Given the description of an element on the screen output the (x, y) to click on. 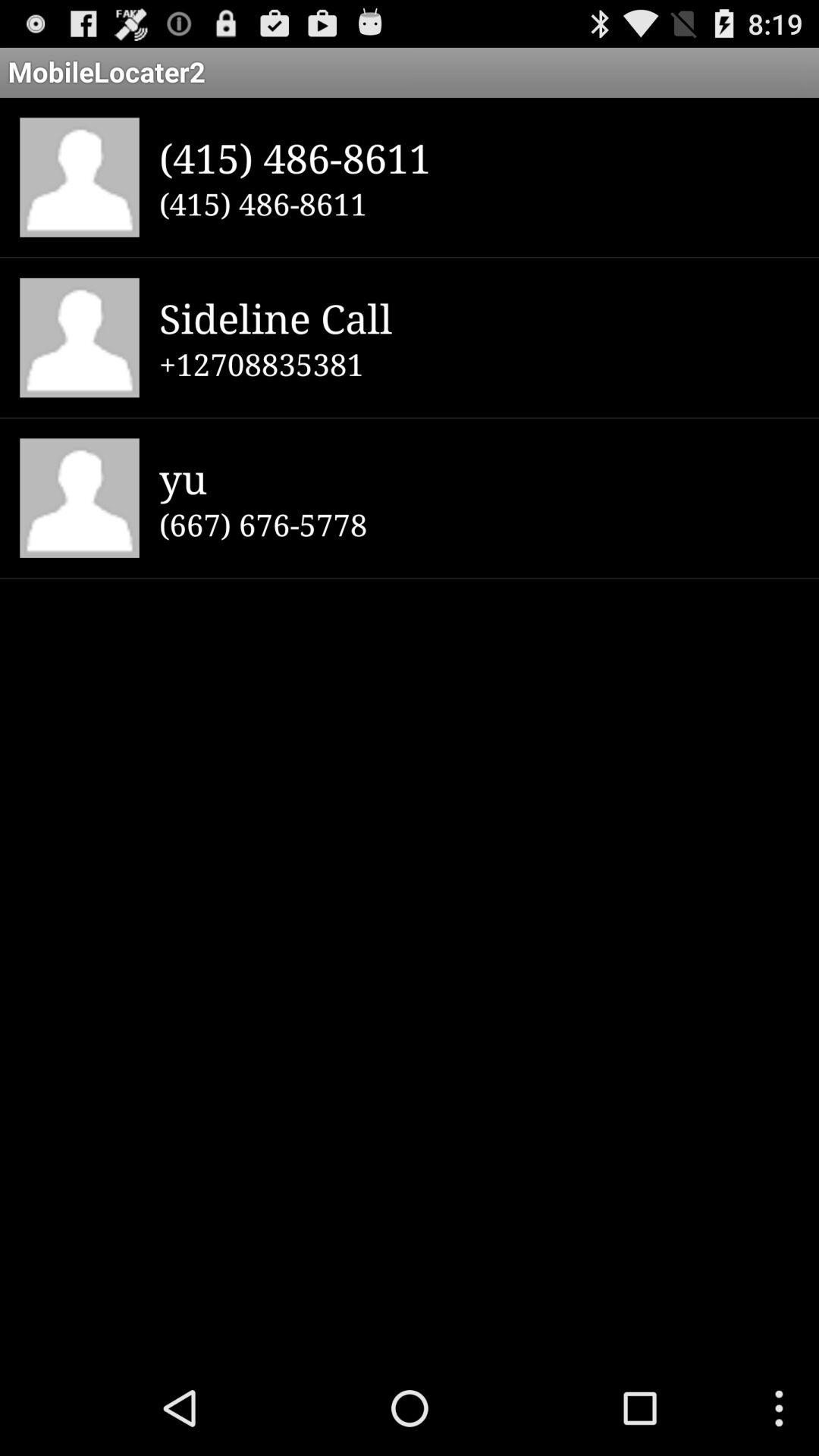
press icon below +12708835381 item (479, 478)
